Given the description of an element on the screen output the (x, y) to click on. 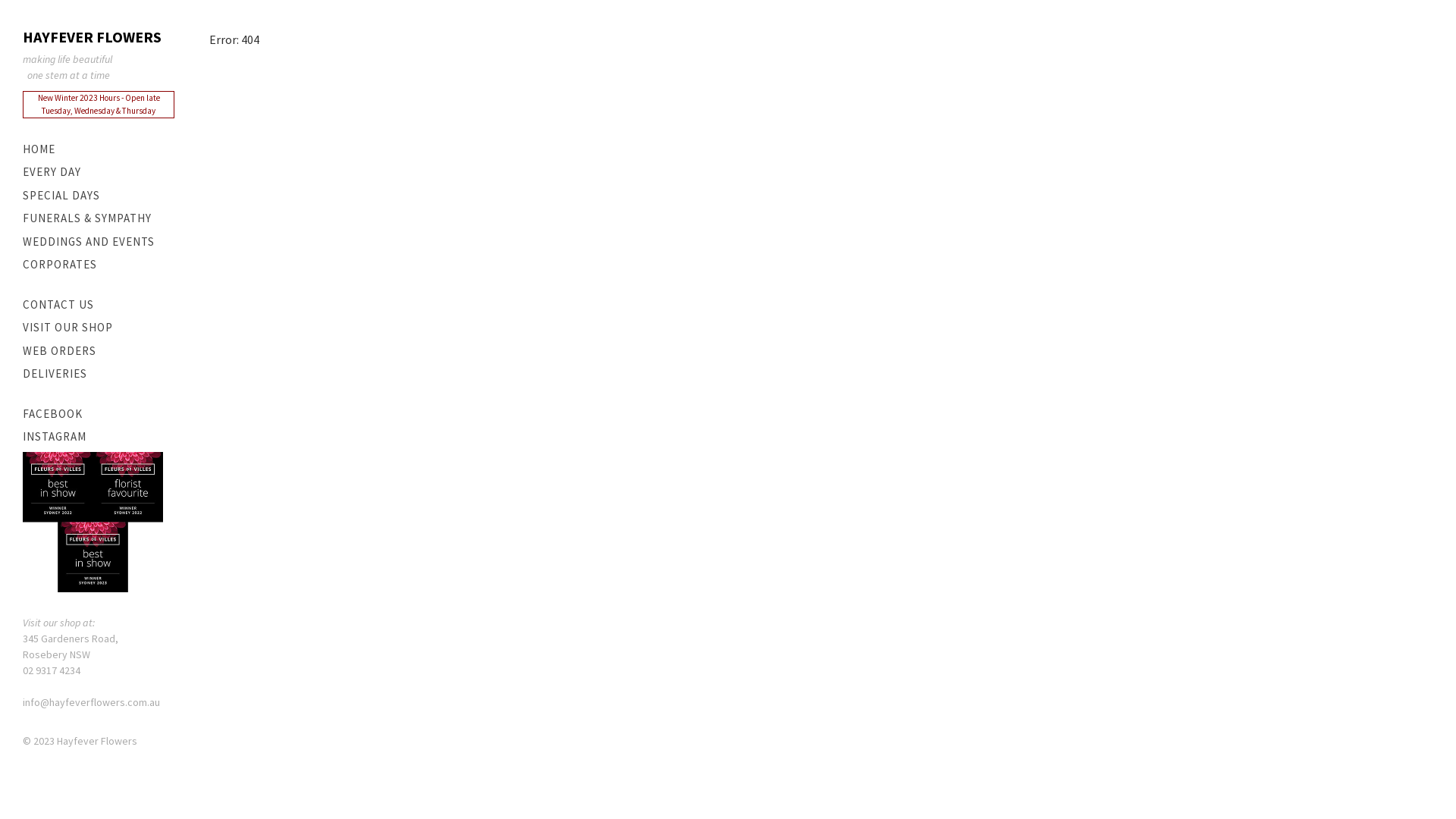
EVERY DAY Element type: text (98, 172)
CORPORATES Element type: text (98, 264)
HOME Element type: text (98, 149)
VISIT OUR SHOP Element type: text (98, 327)
info@hayfeverflowers.com.au Element type: text (91, 702)
WEB ORDERS Element type: text (98, 351)
FUNERALS & SYMPATHY Element type: text (98, 218)
WEDDINGS AND EVENTS Element type: text (98, 242)
INSTAGRAM Element type: text (98, 436)
FACEBOOK Element type: text (98, 414)
DELIVERIES Element type: text (98, 373)
CONTACT US Element type: text (98, 304)
HAYFEVER FLOWERS Element type: text (98, 36)
SPECIAL DAYS Element type: text (98, 195)
